Given the description of an element on the screen output the (x, y) to click on. 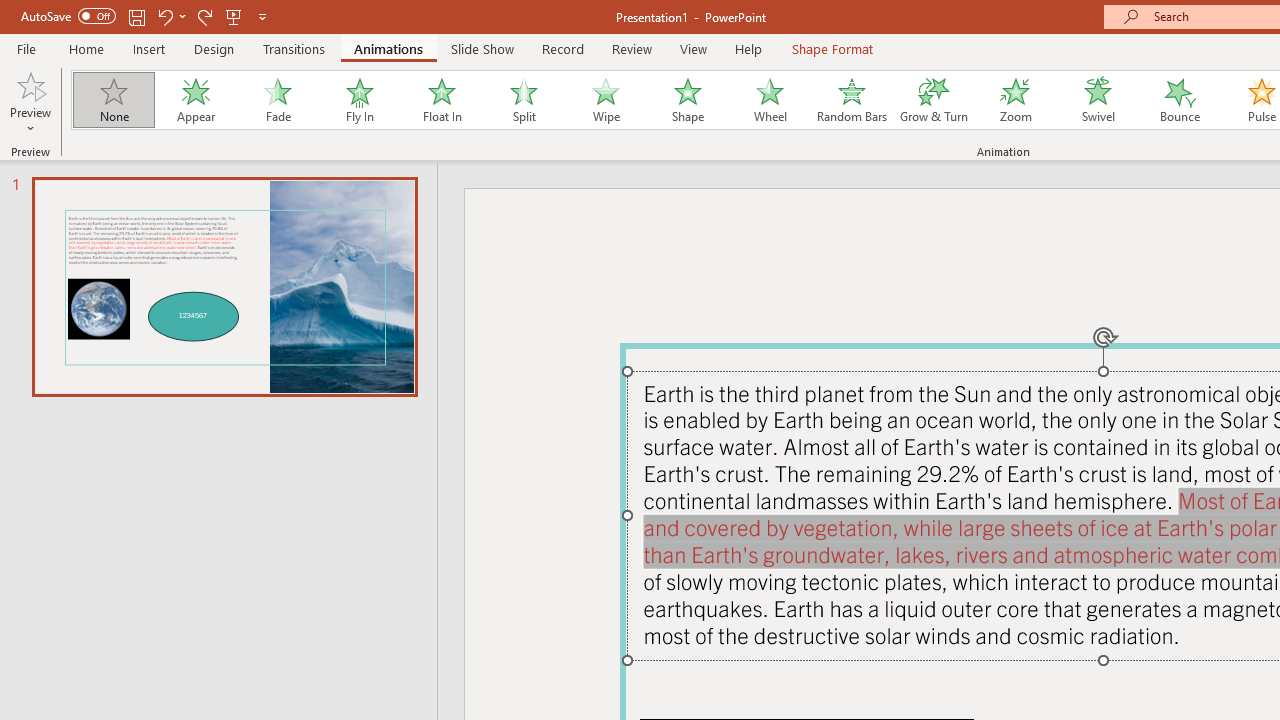
Insert (149, 48)
Appear (195, 100)
Swivel (1098, 100)
Float In (441, 100)
View (693, 48)
None (113, 100)
Transitions (294, 48)
Random Bars (852, 100)
Design (214, 48)
Wheel (770, 100)
Save (136, 15)
